Given the description of an element on the screen output the (x, y) to click on. 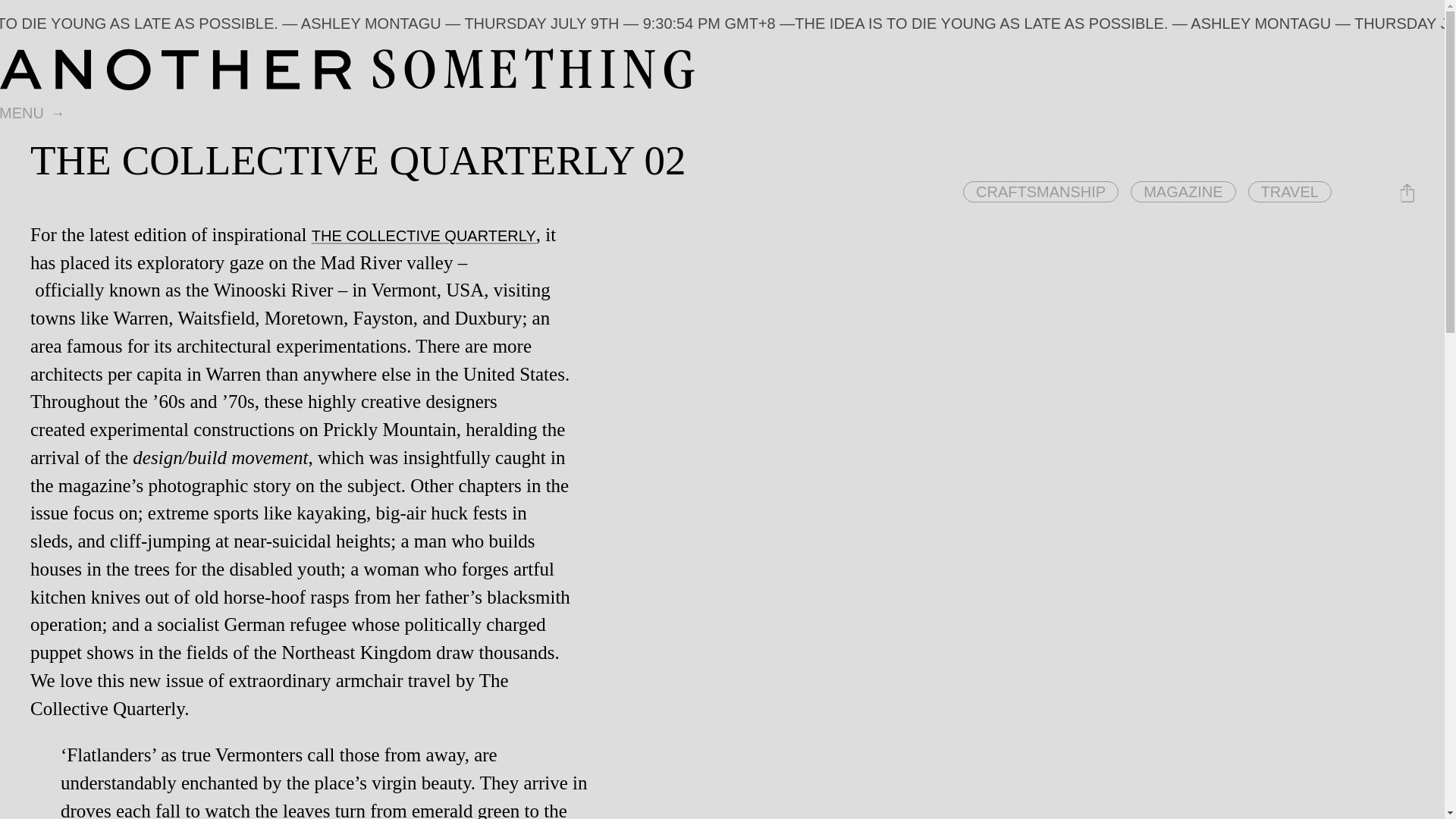
MENU (34, 113)
